Given the description of an element on the screen output the (x, y) to click on. 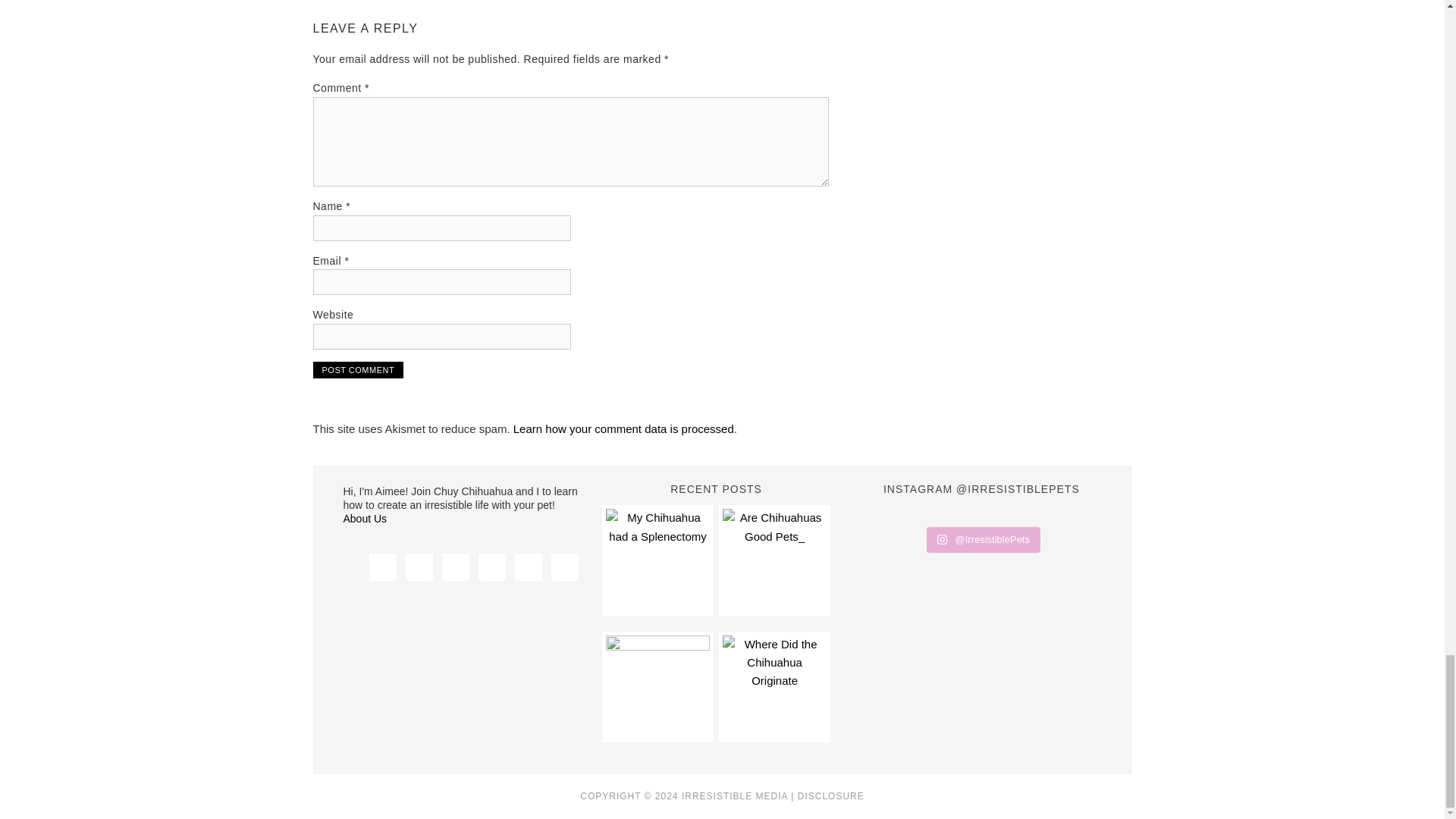
Learn how your comment data is processed (623, 428)
Post Comment (358, 369)
Post Comment (358, 369)
Where Did the Chihuahua Originate? (773, 686)
Are Chihuahuas Good Pets? (773, 559)
My Chihuahua Had a Splenectomy (657, 559)
